Given the description of an element on the screen output the (x, y) to click on. 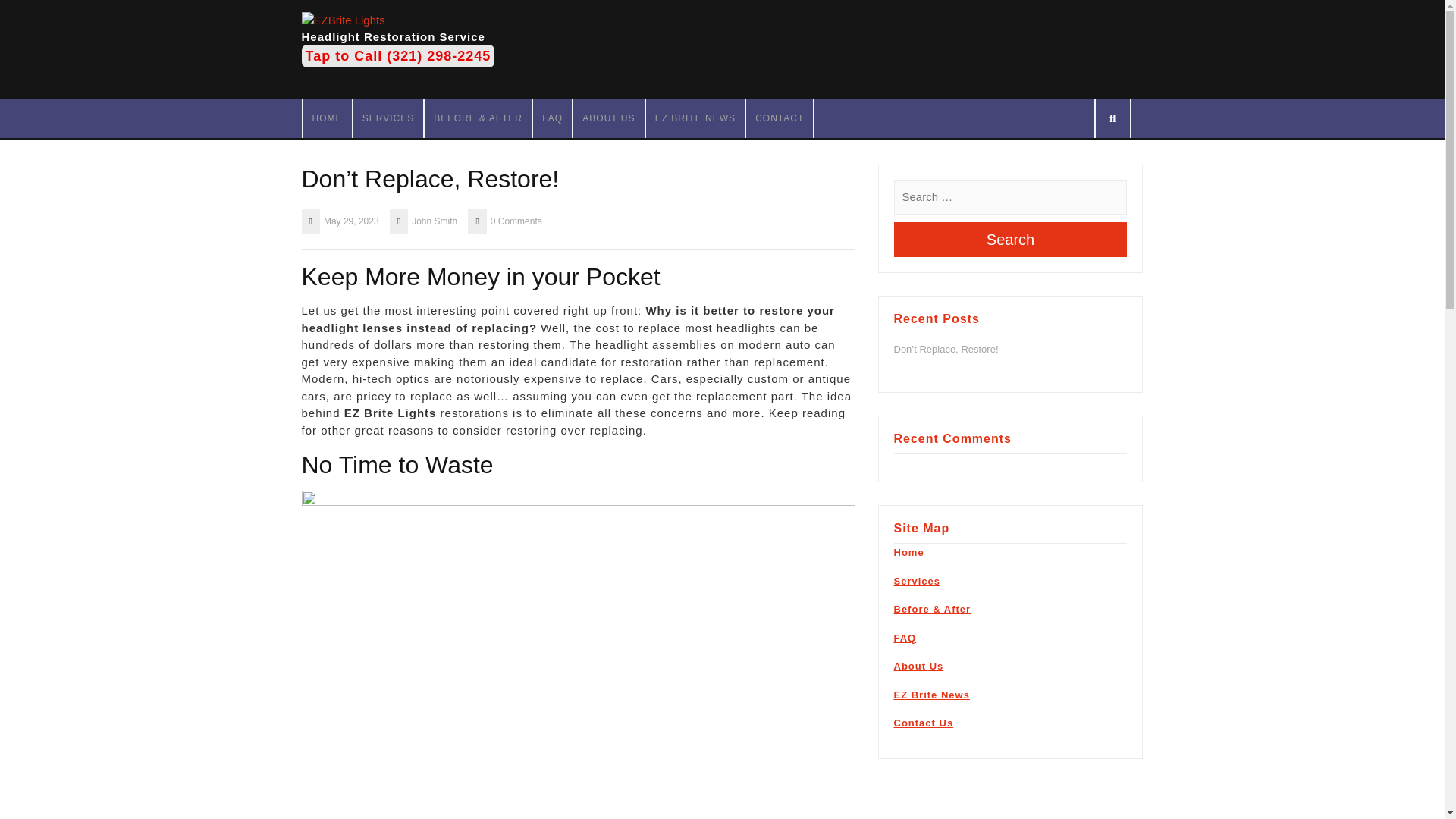
FAQ (904, 637)
EZ BRITE NEWS (695, 118)
Home (908, 552)
Services (916, 581)
Search (1009, 239)
SERVICES (387, 118)
About Us (918, 665)
HOME (327, 118)
ABOUT US (608, 118)
Contact Us (923, 722)
